Given the description of an element on the screen output the (x, y) to click on. 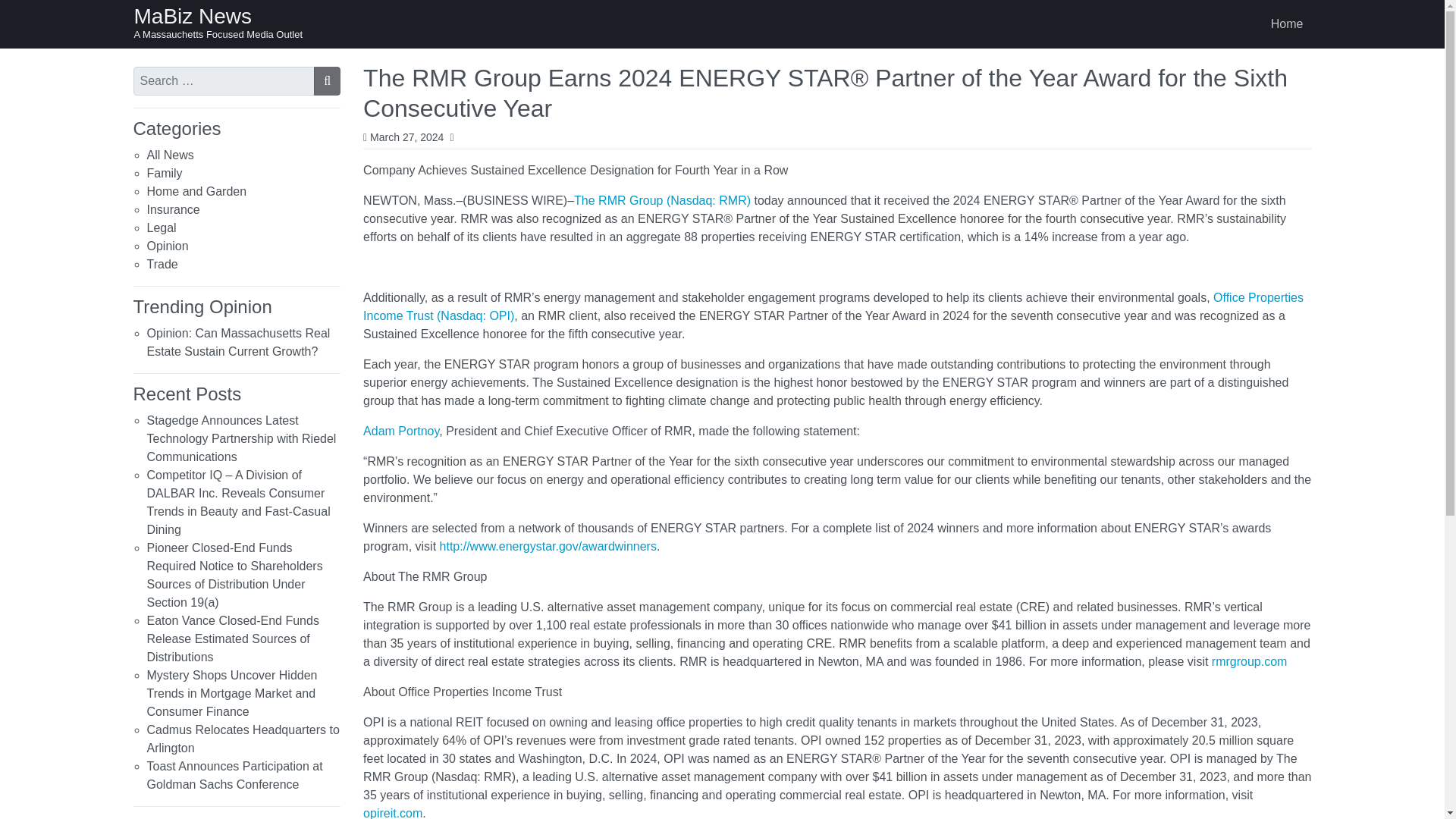
MaBiz News  (192, 15)
Toast Announces Participation at Goldman Sachs Conference (235, 775)
opireit.com (392, 812)
Cadmus Relocates Headquarters to Arlington (243, 738)
Legal (161, 227)
Skip to content (17, 14)
Home (1287, 23)
